Given the description of an element on the screen output the (x, y) to click on. 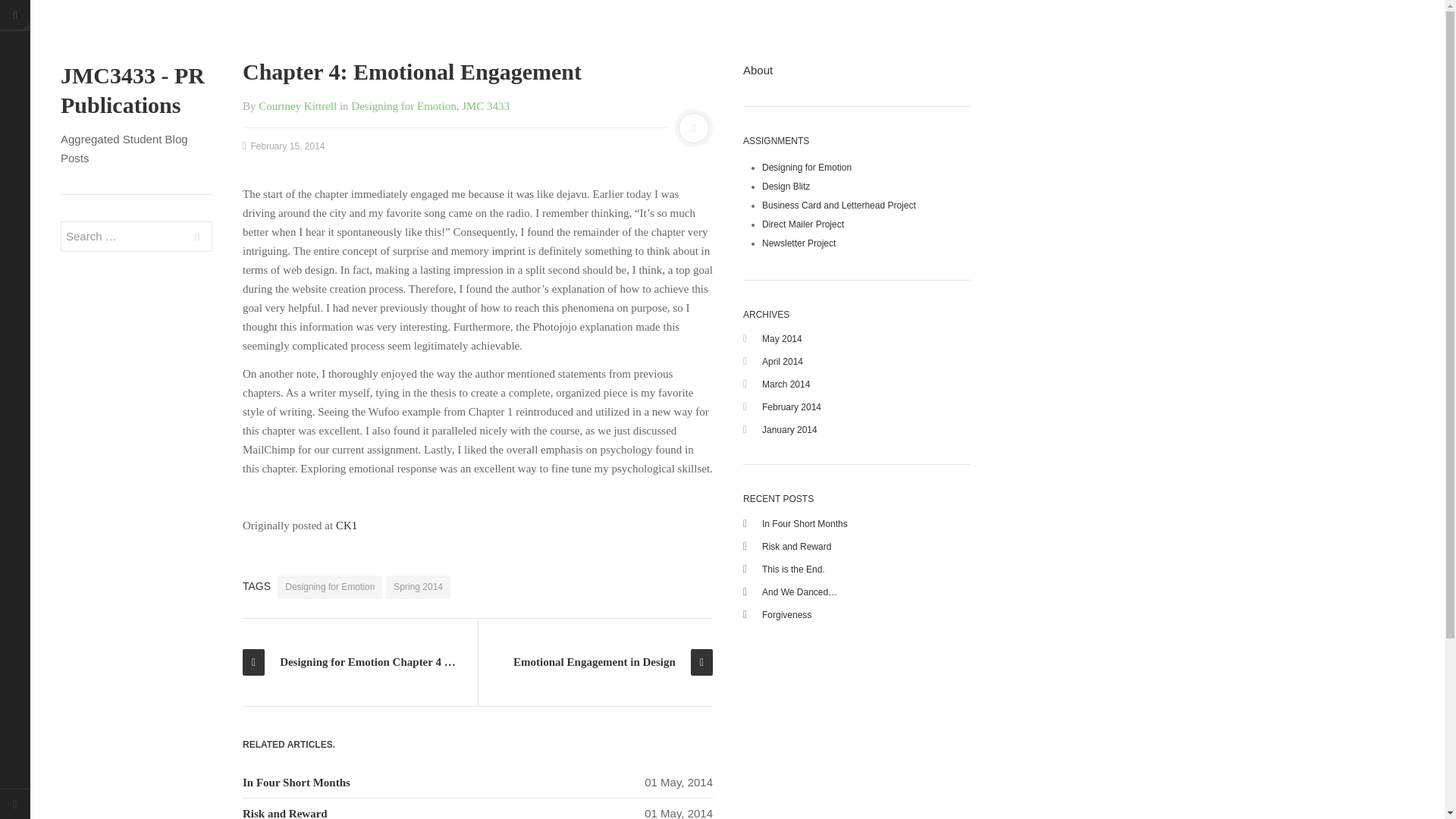
Search for: (136, 236)
Business Card and Letterhead Project (838, 204)
JMC3433 - PR Publications (136, 89)
Search (197, 236)
CK1 (346, 525)
In Four Short Months (296, 782)
Forgiveness (785, 614)
April 2014 (782, 361)
Design Blitz (785, 185)
Courtney Kittrell (297, 105)
